Given the description of an element on the screen output the (x, y) to click on. 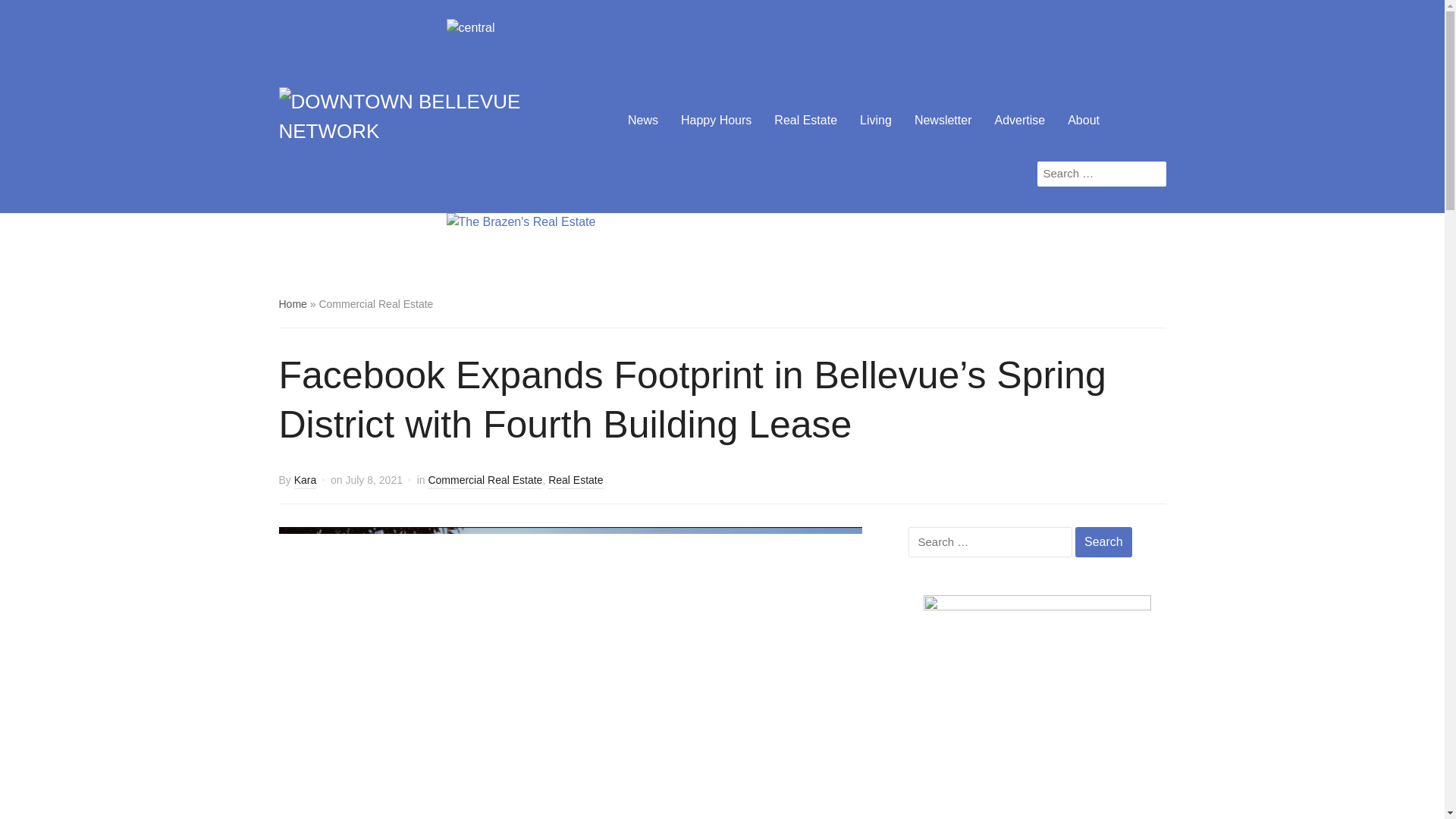
Search (1154, 173)
Search (1103, 541)
News: Business, Restaurants, Real Estate (436, 117)
Happy Hours (716, 120)
Real Estate (805, 120)
News (642, 120)
Posts by Kara (305, 480)
Search (1154, 173)
Search (1103, 541)
